Given the description of an element on the screen output the (x, y) to click on. 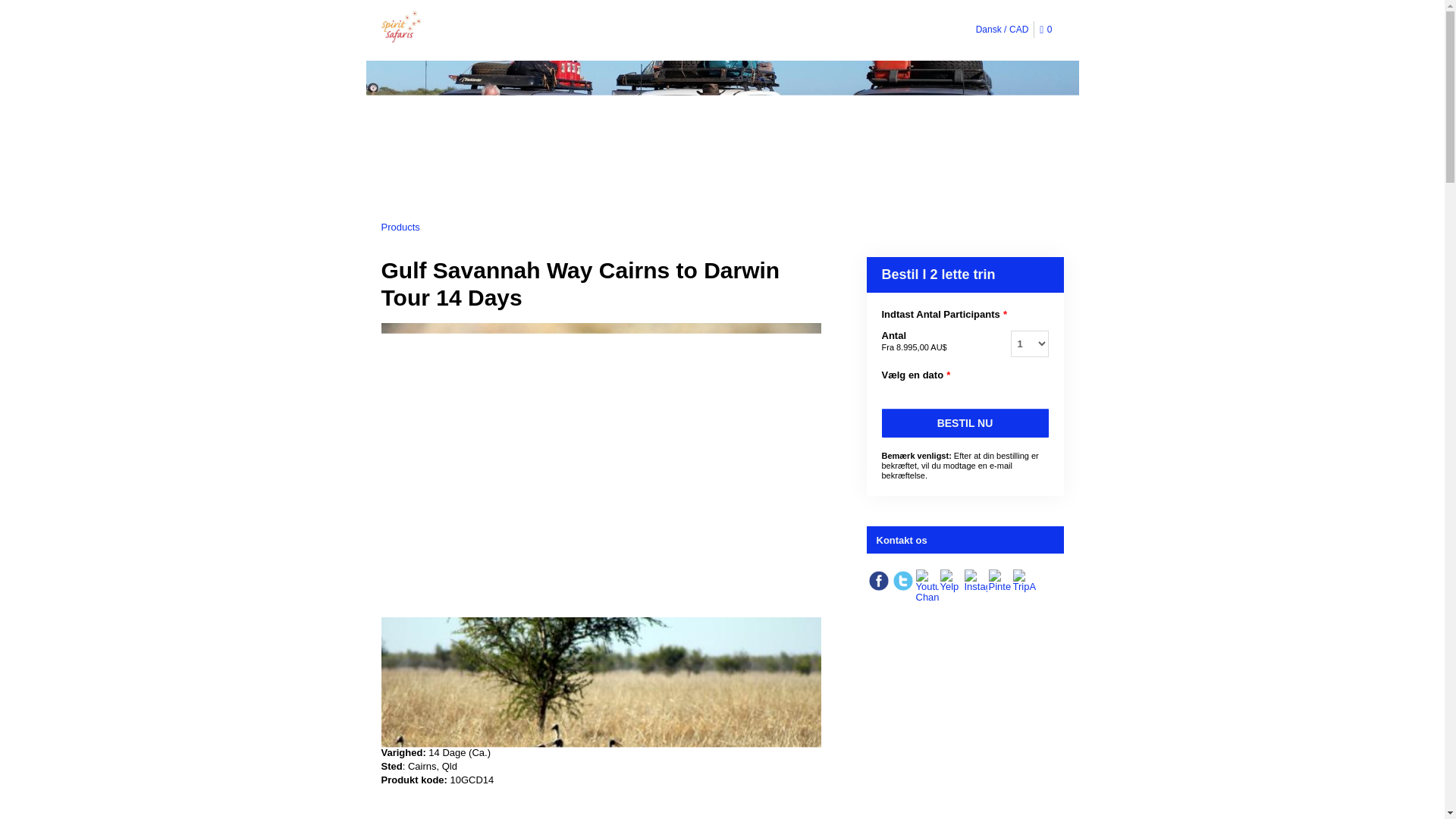
0 (1047, 30)
BESTIL NU (964, 422)
Products (399, 226)
Dansk CAD (1003, 29)
